Given the description of an element on the screen output the (x, y) to click on. 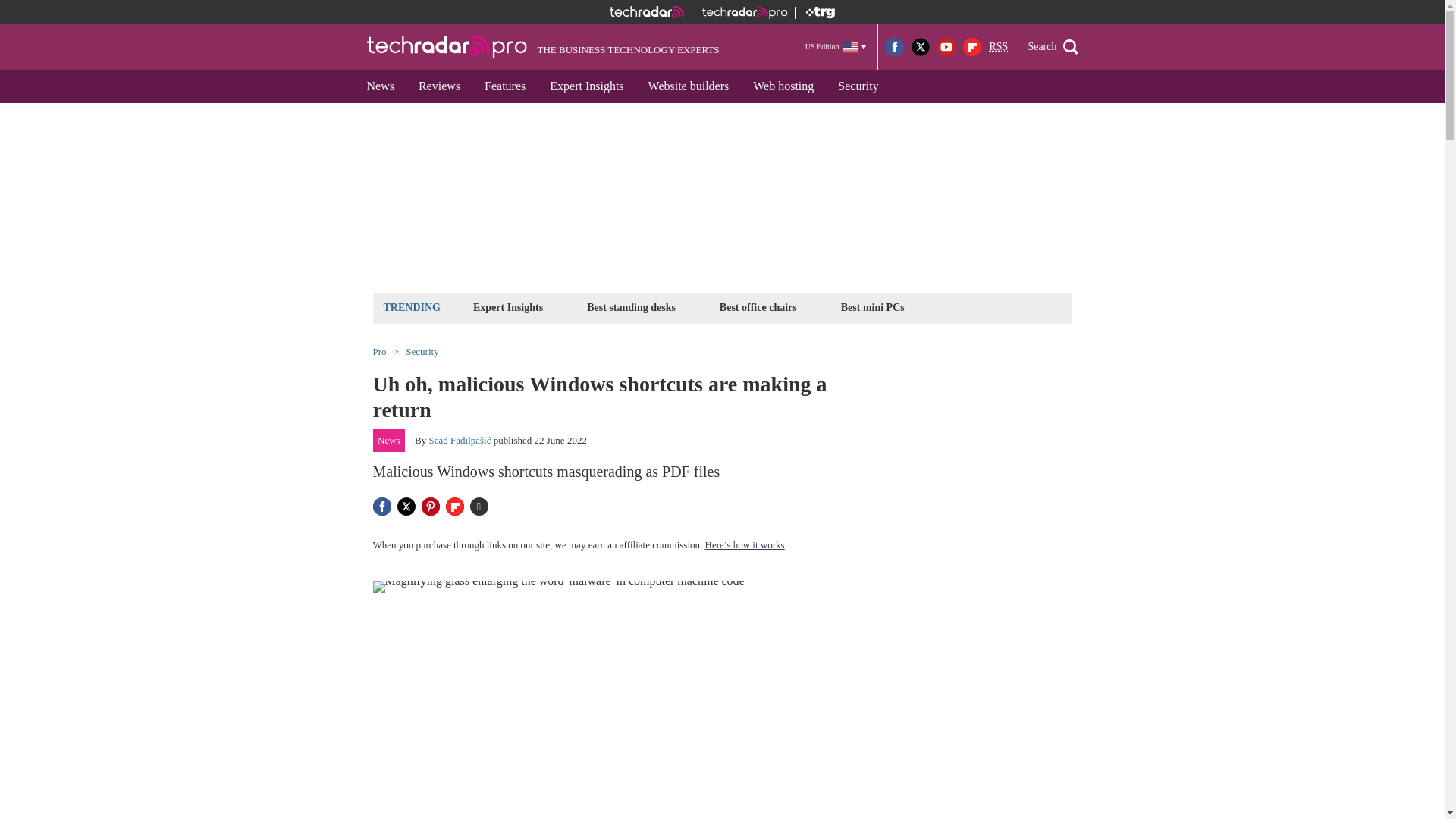
Web hosting (783, 86)
RSS (997, 46)
Website builders (688, 86)
Best standing desks (630, 307)
THE BUSINESS TECHNOLOGY EXPERTS (542, 46)
Features (504, 86)
Security (857, 86)
Reviews (438, 86)
Expert Insights (585, 86)
US Edition (836, 46)
Really Simple Syndication (997, 46)
News (380, 86)
Expert Insights (507, 307)
Best office chairs (758, 307)
